Given the description of an element on the screen output the (x, y) to click on. 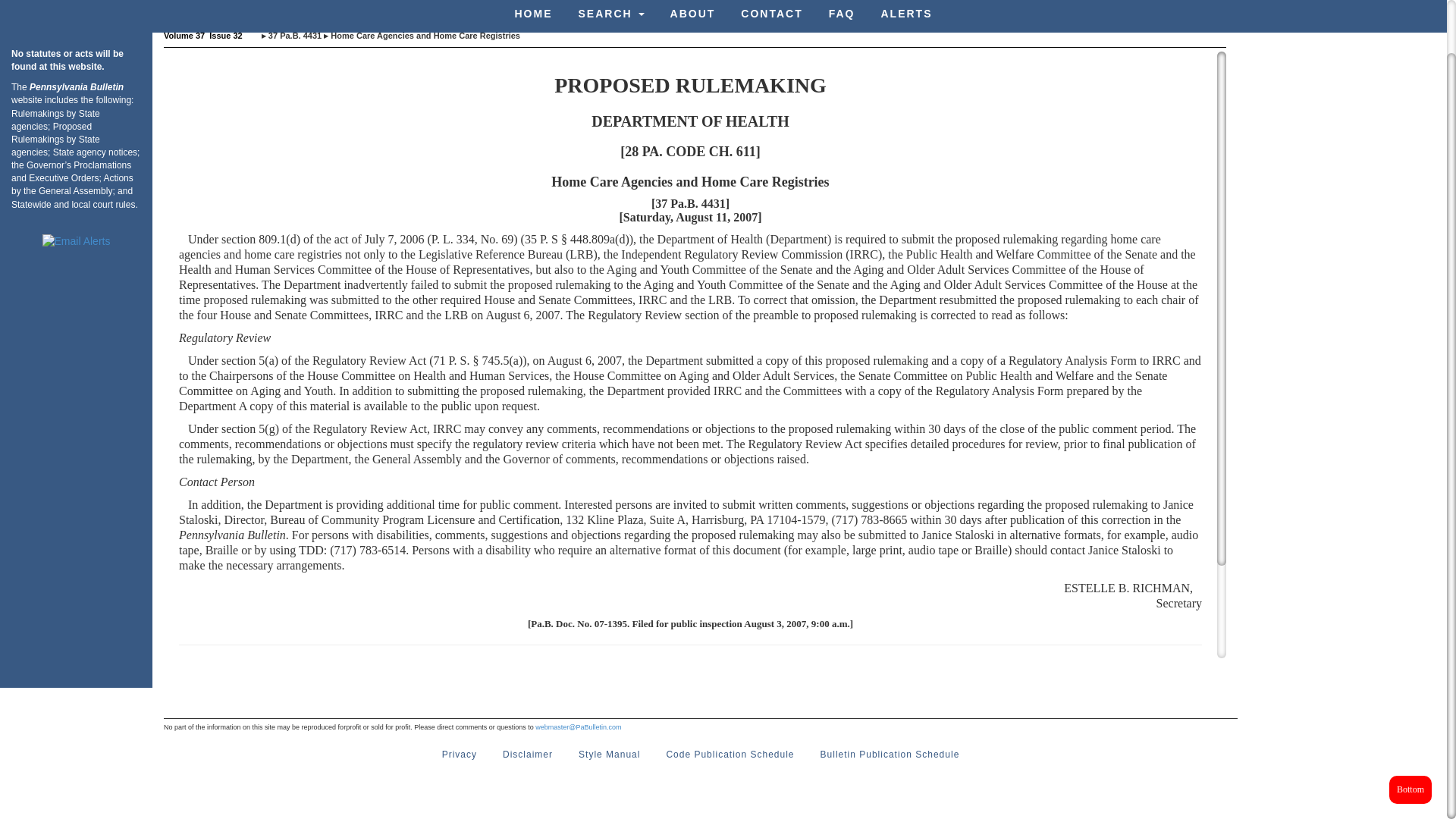
Disclaimer (528, 754)
Previous Doc (586, 8)
Return to Search (774, 8)
Previous Doc (586, 8)
Style Manual (608, 754)
Next Doc (646, 8)
Resize Screen (884, 8)
Return to Search (774, 8)
Email Alerts (76, 241)
Print Document (833, 8)
Next Bulletin (705, 8)
Privacy (458, 754)
Code Publication Schedule (729, 754)
Next Doc (646, 8)
Volume 37  Issue 32 (203, 35)
